Given the description of an element on the screen output the (x, y) to click on. 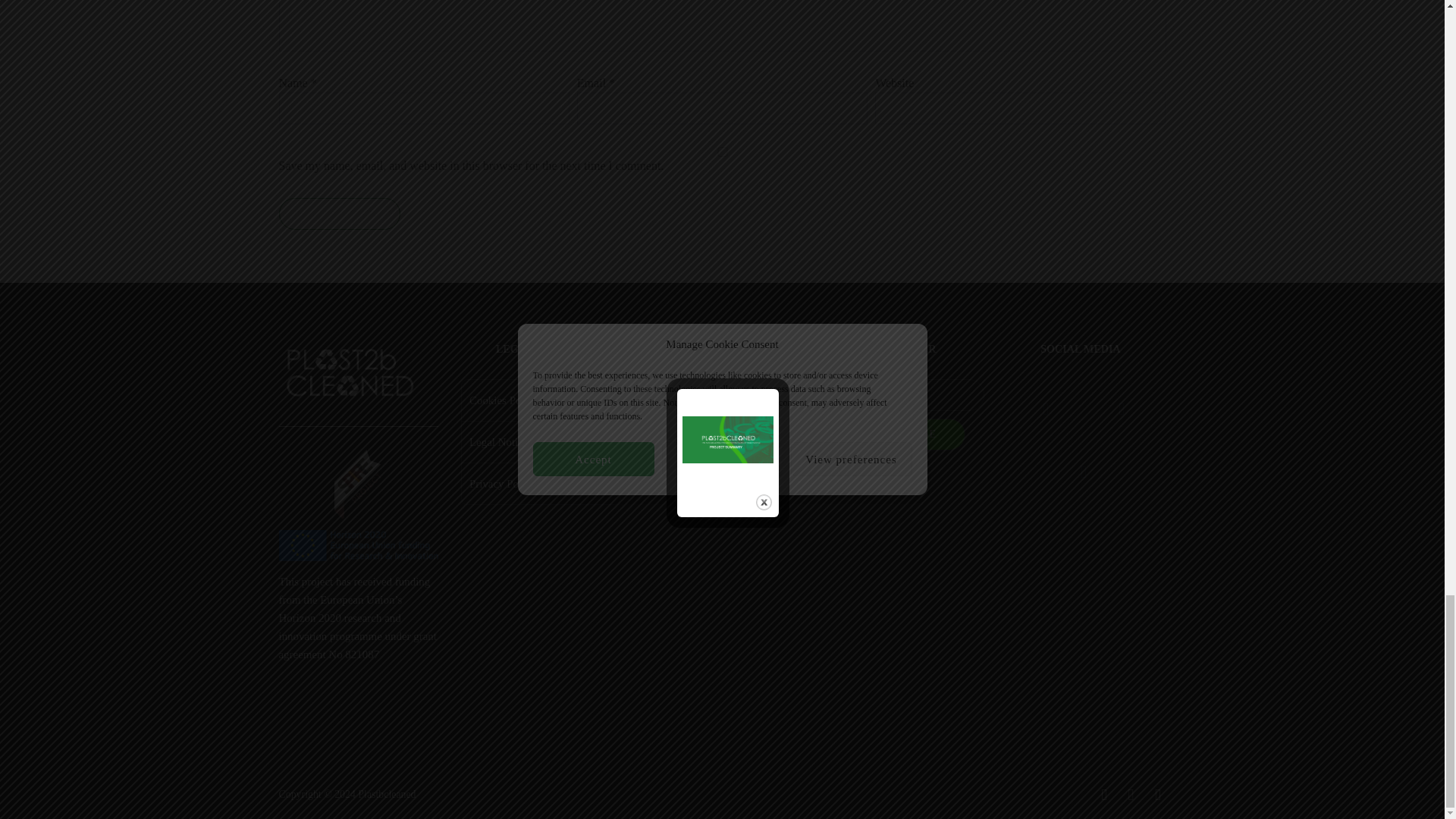
Youtube (1083, 471)
SUBSCRIBE (903, 434)
Twitter (1121, 408)
LinkedIn (1045, 408)
yes (722, 152)
Submit (339, 214)
